Given the description of an element on the screen output the (x, y) to click on. 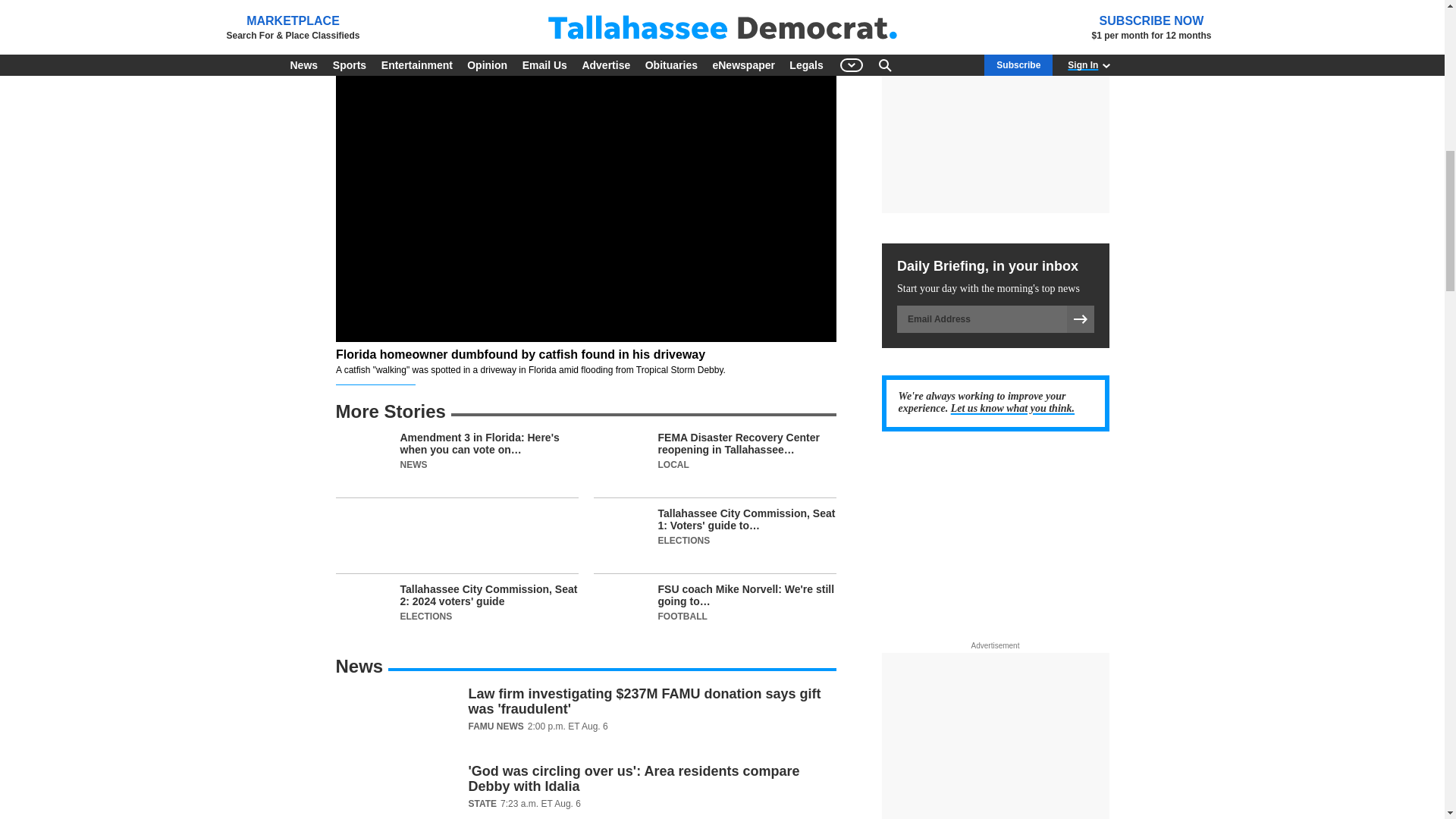
Tallahassee City Commission, Seat 2: 2024 voters' guide (456, 611)
